Given the description of an element on the screen output the (x, y) to click on. 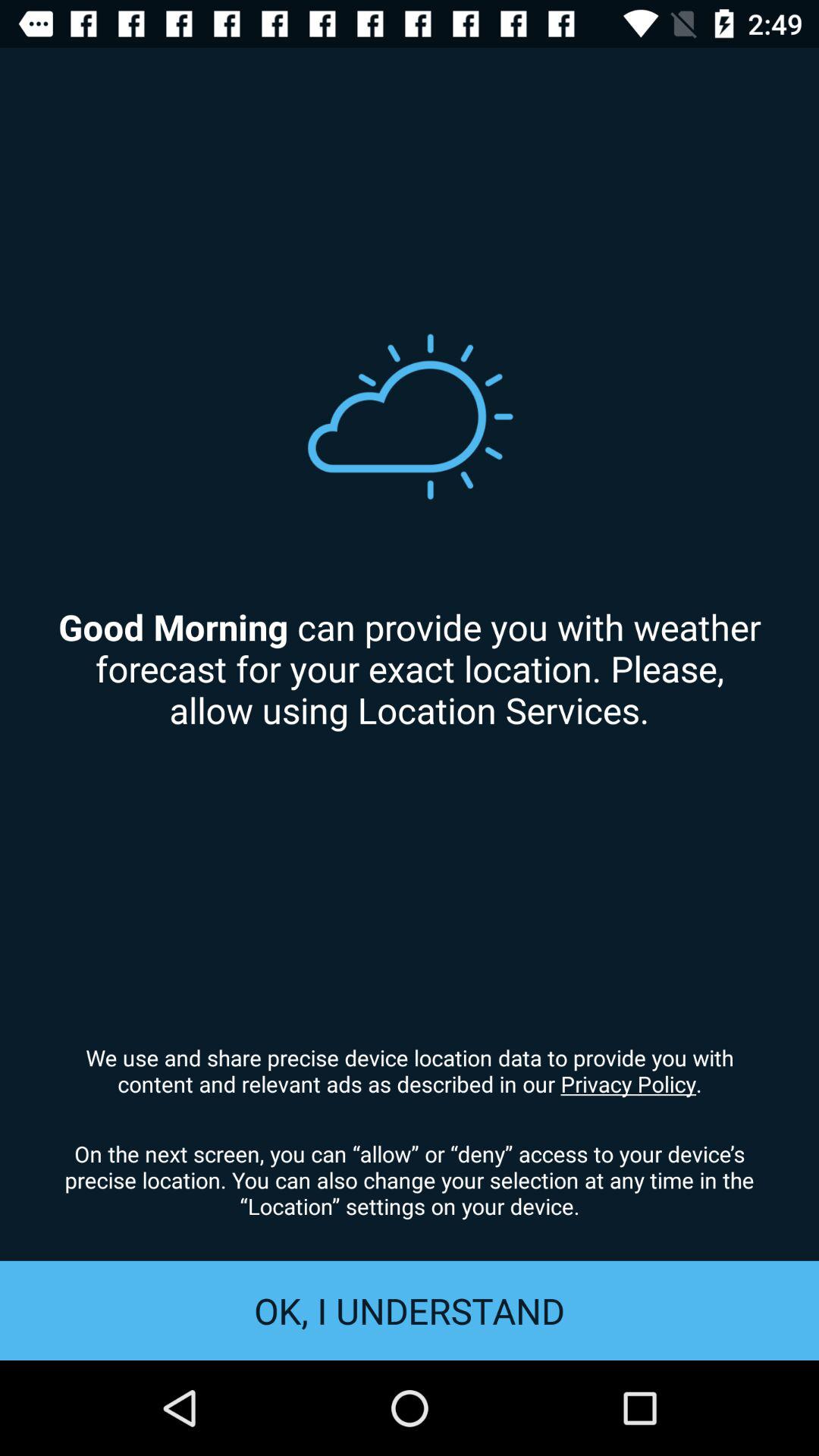
choose the ok, i understand icon (409, 1310)
